Given the description of an element on the screen output the (x, y) to click on. 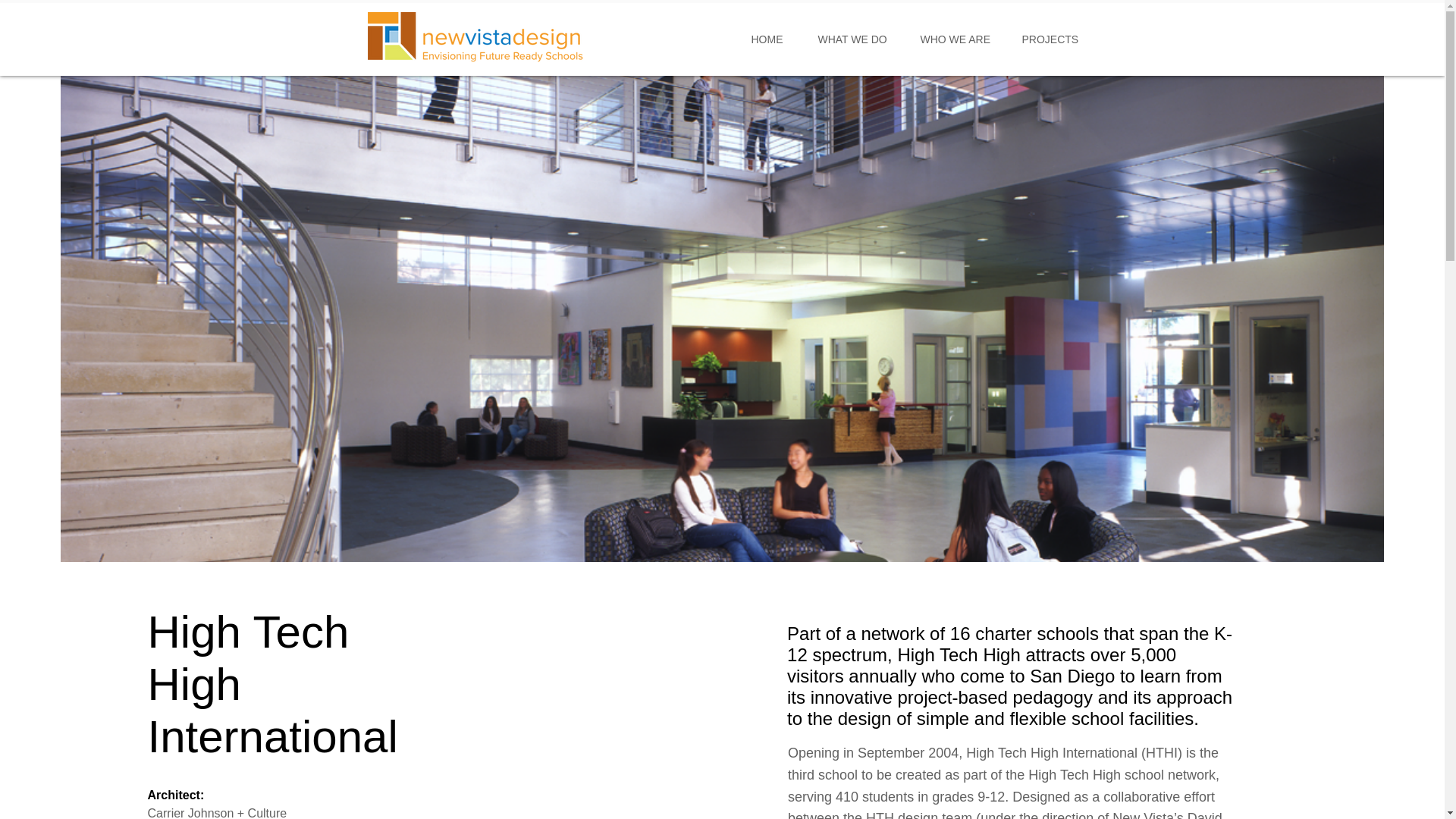
WHAT WE DO (857, 39)
WHO WE ARE (959, 39)
HOME (772, 39)
